Given the description of an element on the screen output the (x, y) to click on. 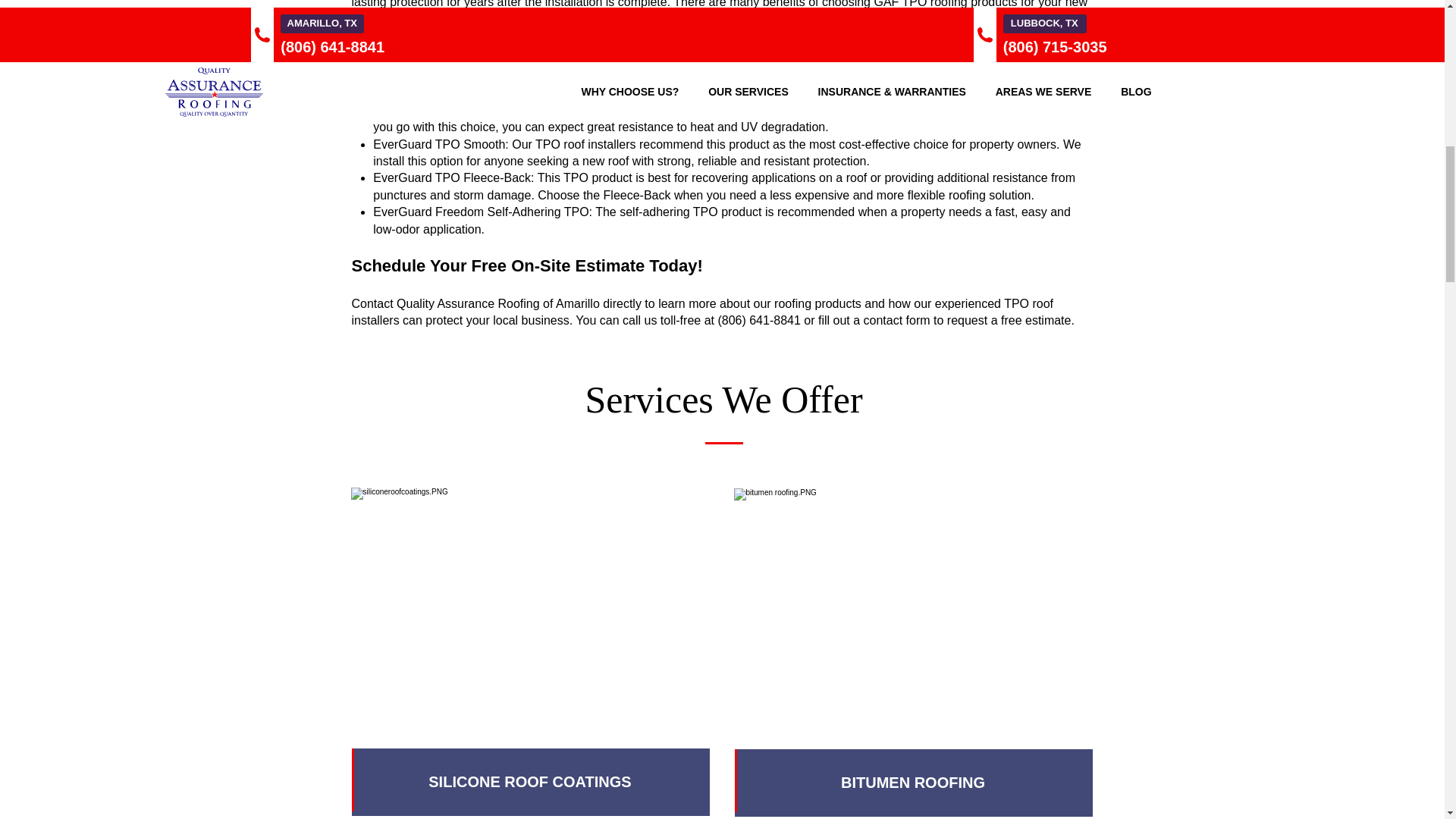
fill out a contact form (874, 319)
